Given the description of an element on the screen output the (x, y) to click on. 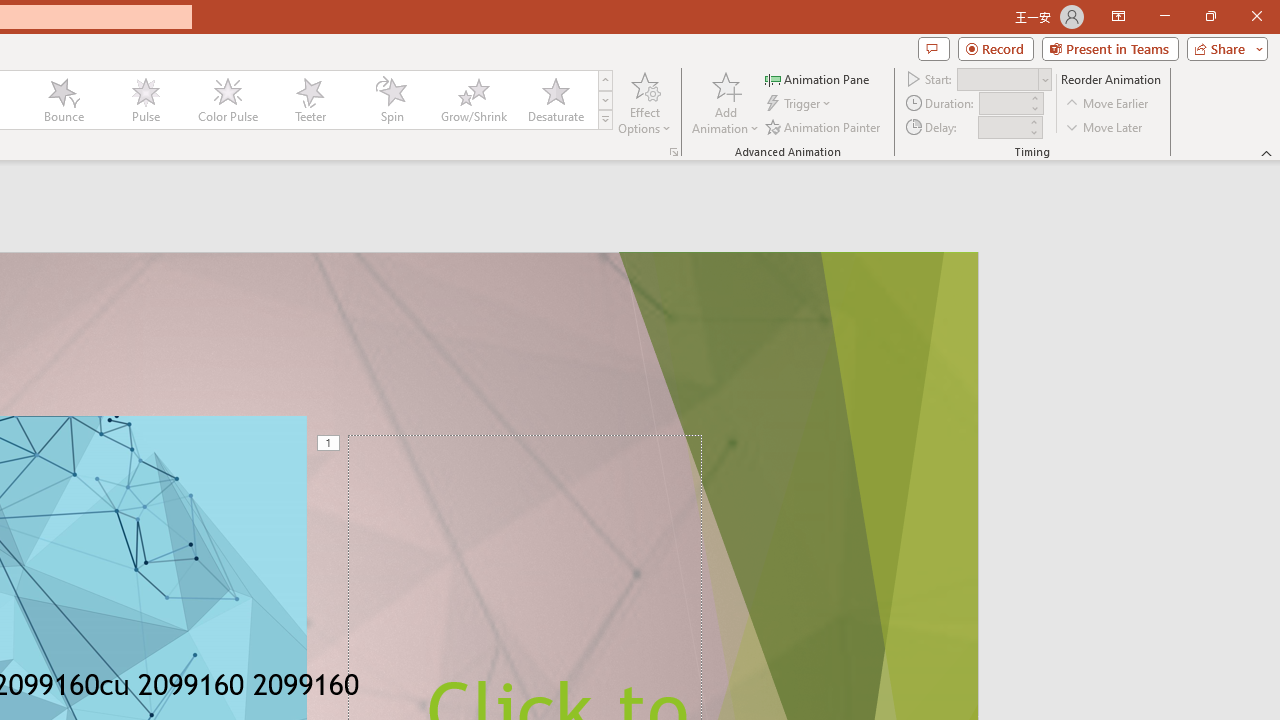
Trigger (799, 103)
Spin (391, 100)
Animation Styles (605, 120)
Animation Pane (818, 78)
Teeter (309, 100)
Grow/Shrink (473, 100)
Color Pulse (227, 100)
Effect Options (644, 102)
